Given the description of an element on the screen output the (x, y) to click on. 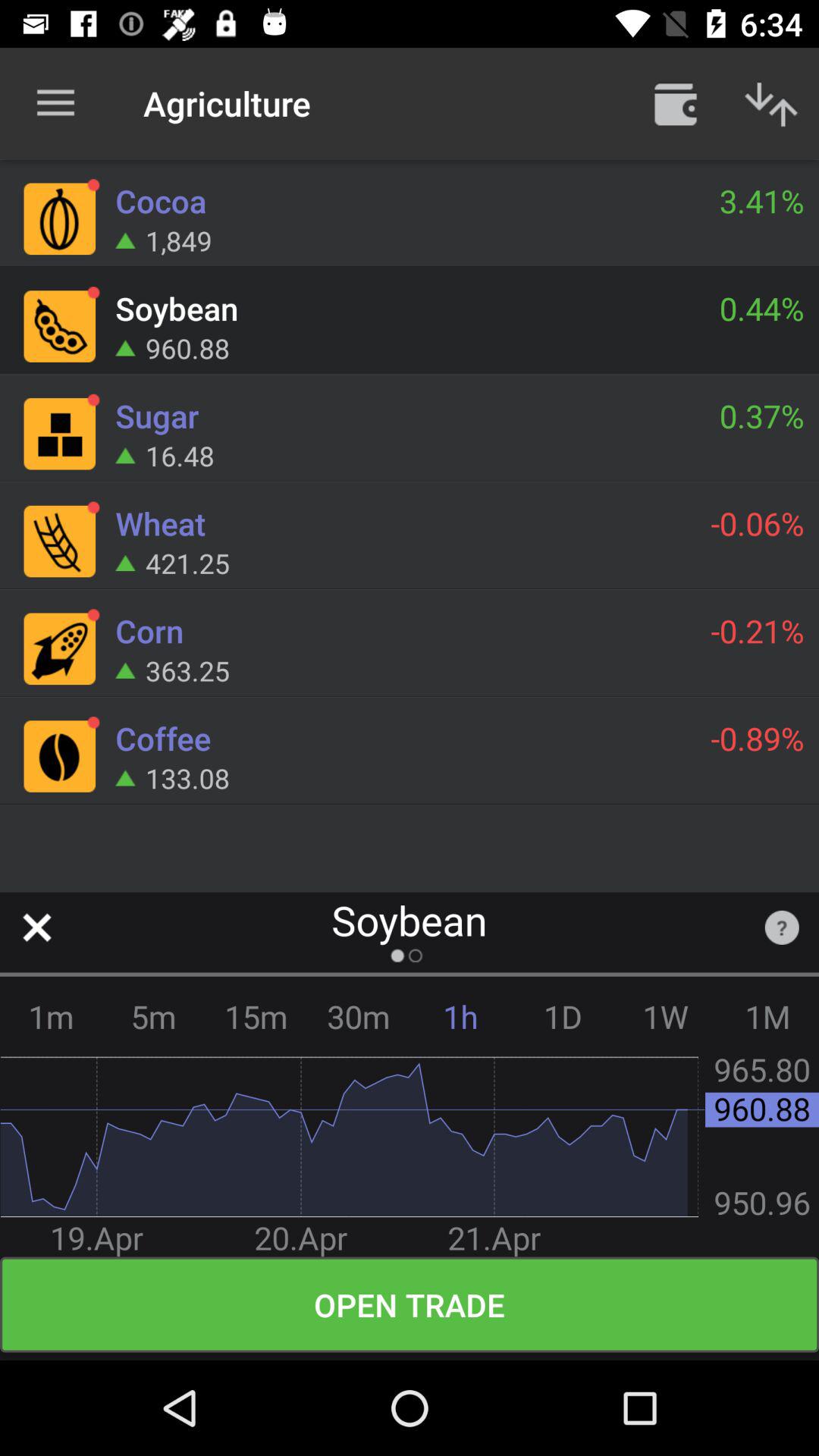
click to close (36, 927)
